Given the description of an element on the screen output the (x, y) to click on. 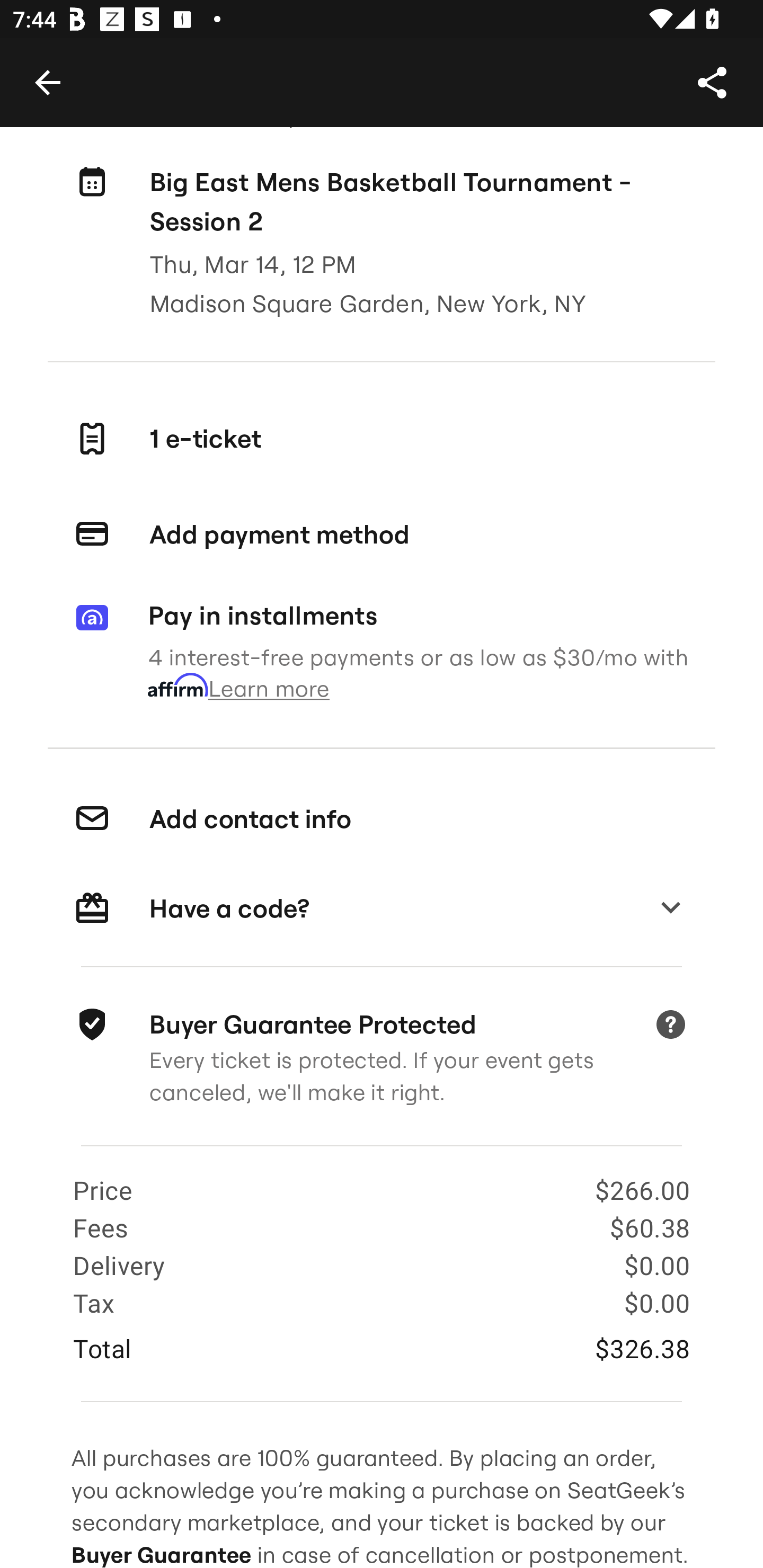
Expand image to fullscreen (57, 69)
Share (711, 81)
1 e-ticket (381, 438)
Add payment method (381, 534)
Add contact info (381, 818)
Have a code? Expand to show options (381, 908)
